Given the description of an element on the screen output the (x, y) to click on. 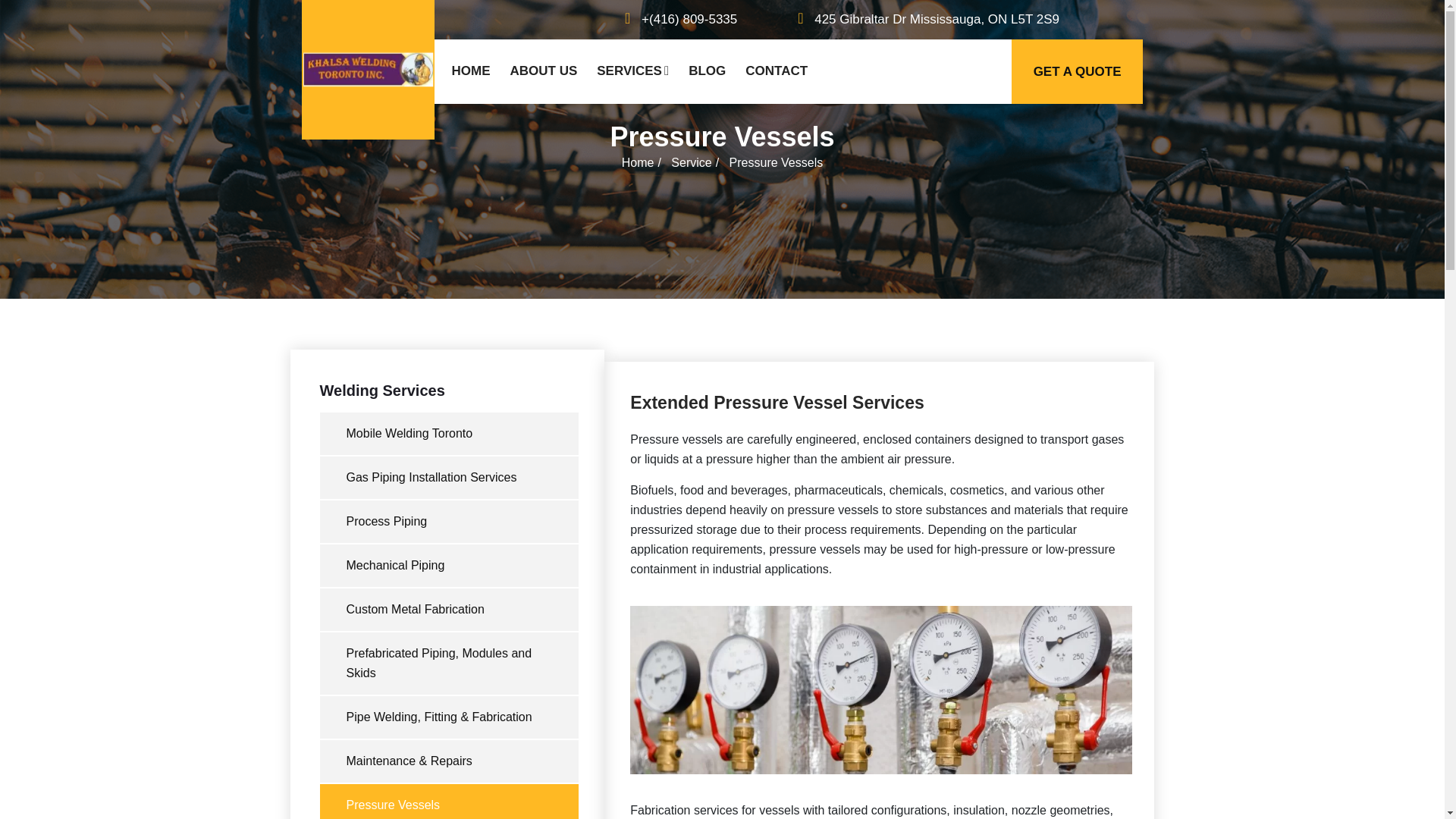
SERVICES (632, 70)
Mobile Welding Toronto (449, 433)
Process Piping (449, 521)
Pressure Vessels (449, 801)
Gas Piping Installation Services (449, 477)
ABOUT US (544, 70)
Mechanical Piping (449, 565)
Home (637, 162)
GET A QUOTE (1077, 71)
Prefabricated Piping, Modules and Skids (449, 663)
BLOG (706, 70)
HOME (470, 70)
Custom Metal Fabrication (449, 609)
425 Gibraltar Dr Mississauga, ON L5T 2S9 (924, 19)
CONTACT (775, 70)
